Given the description of an element on the screen output the (x, y) to click on. 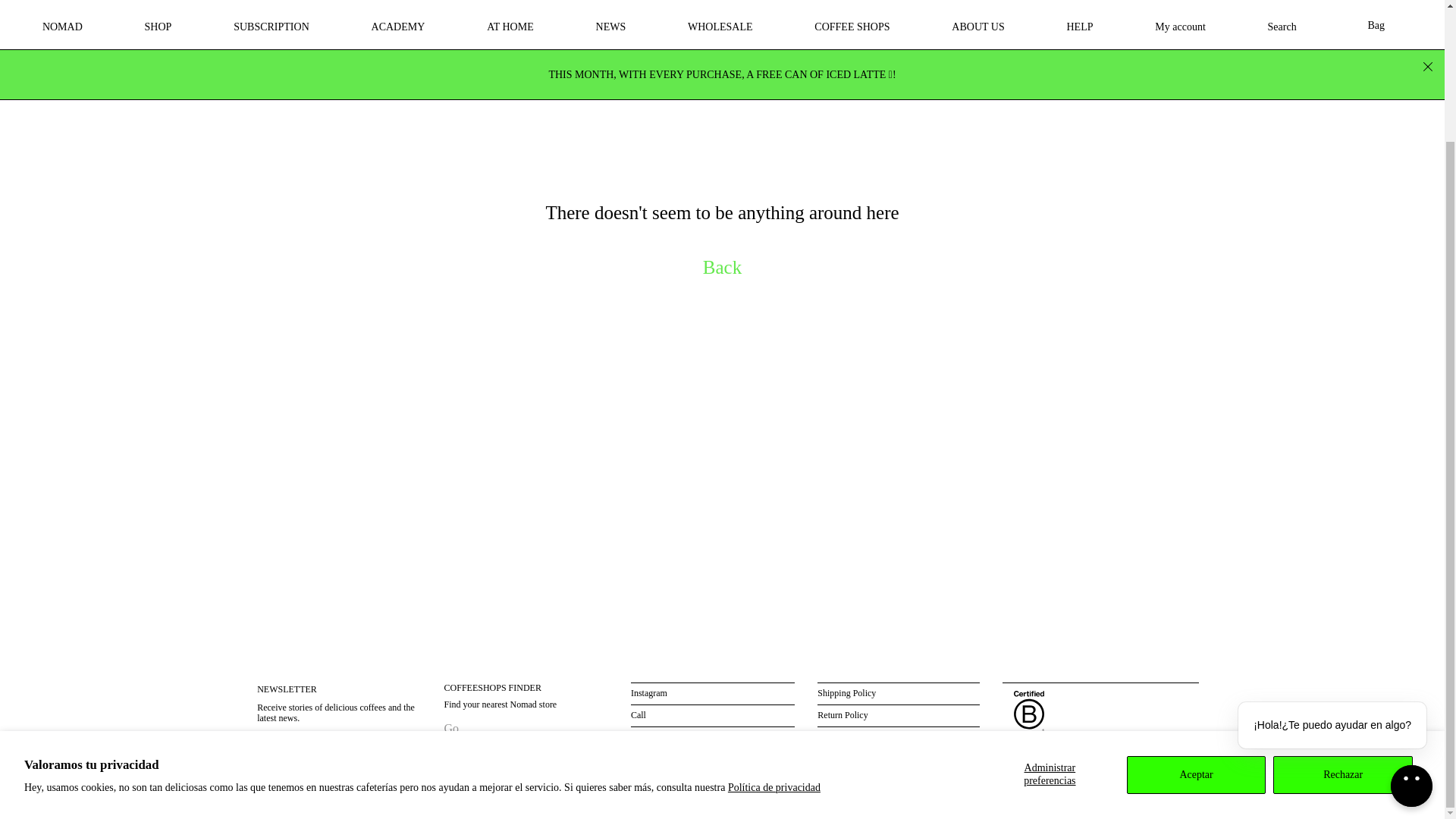
Aceptar (1196, 614)
Rechazar (1342, 614)
Administrar preferencias (1049, 614)
